Given the description of an element on the screen output the (x, y) to click on. 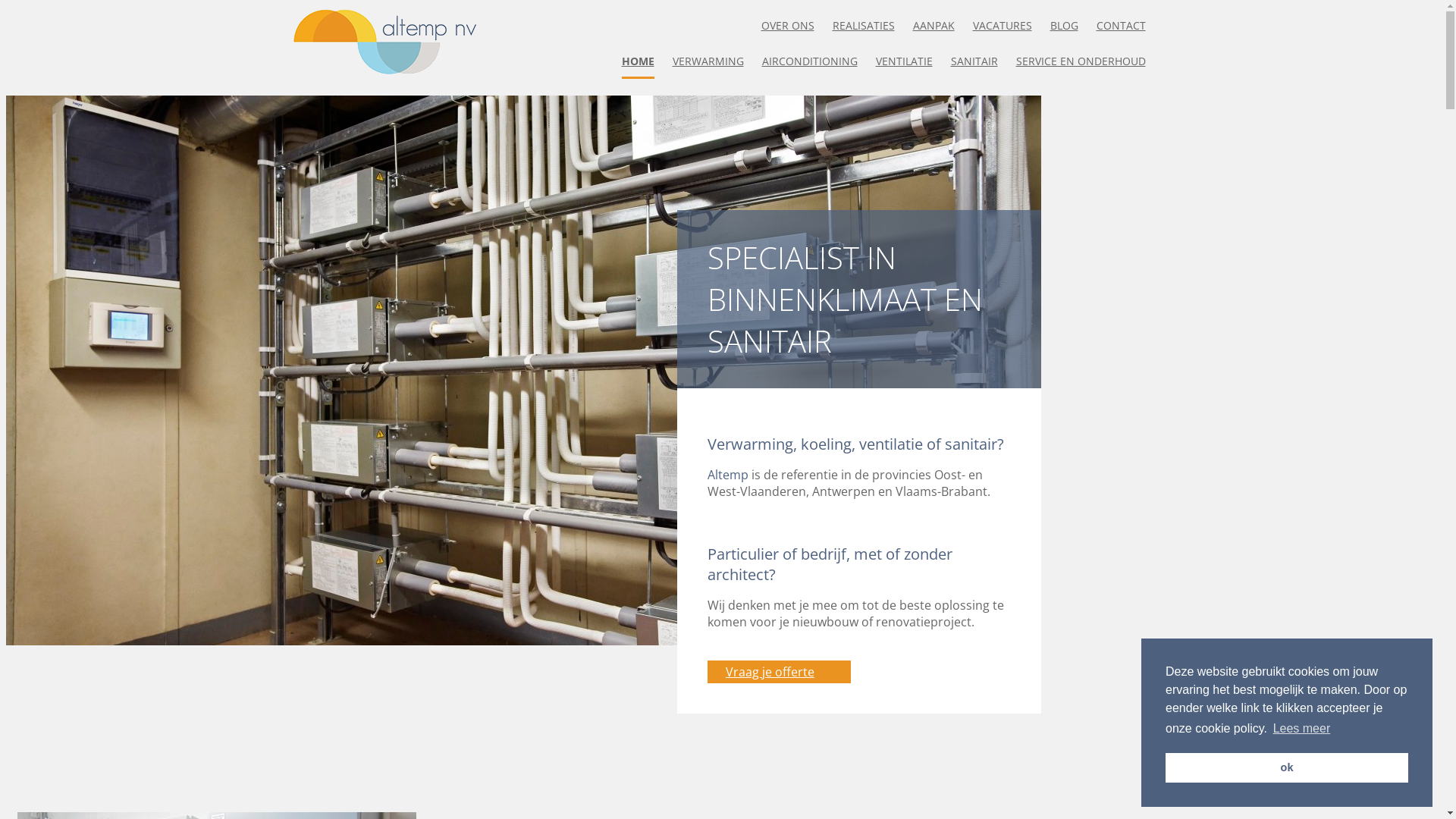
CONTACT Element type: text (1120, 25)
Lees meer Element type: text (1301, 728)
BLOG Element type: text (1063, 25)
AIRCONDITIONING Element type: text (808, 60)
VACATURES Element type: text (1001, 25)
AANPAK Element type: text (933, 25)
SERVICE EN ONDERHOUD Element type: text (1080, 60)
SANITAIR Element type: text (973, 60)
REALISATIES Element type: text (863, 25)
Vraag je offerte Element type: text (778, 671)
VENTILATIE Element type: text (903, 60)
HOME Element type: text (637, 60)
VERWARMING Element type: text (707, 60)
OVER ONS Element type: text (787, 25)
ok Element type: text (1286, 767)
